Given the description of an element on the screen output the (x, y) to click on. 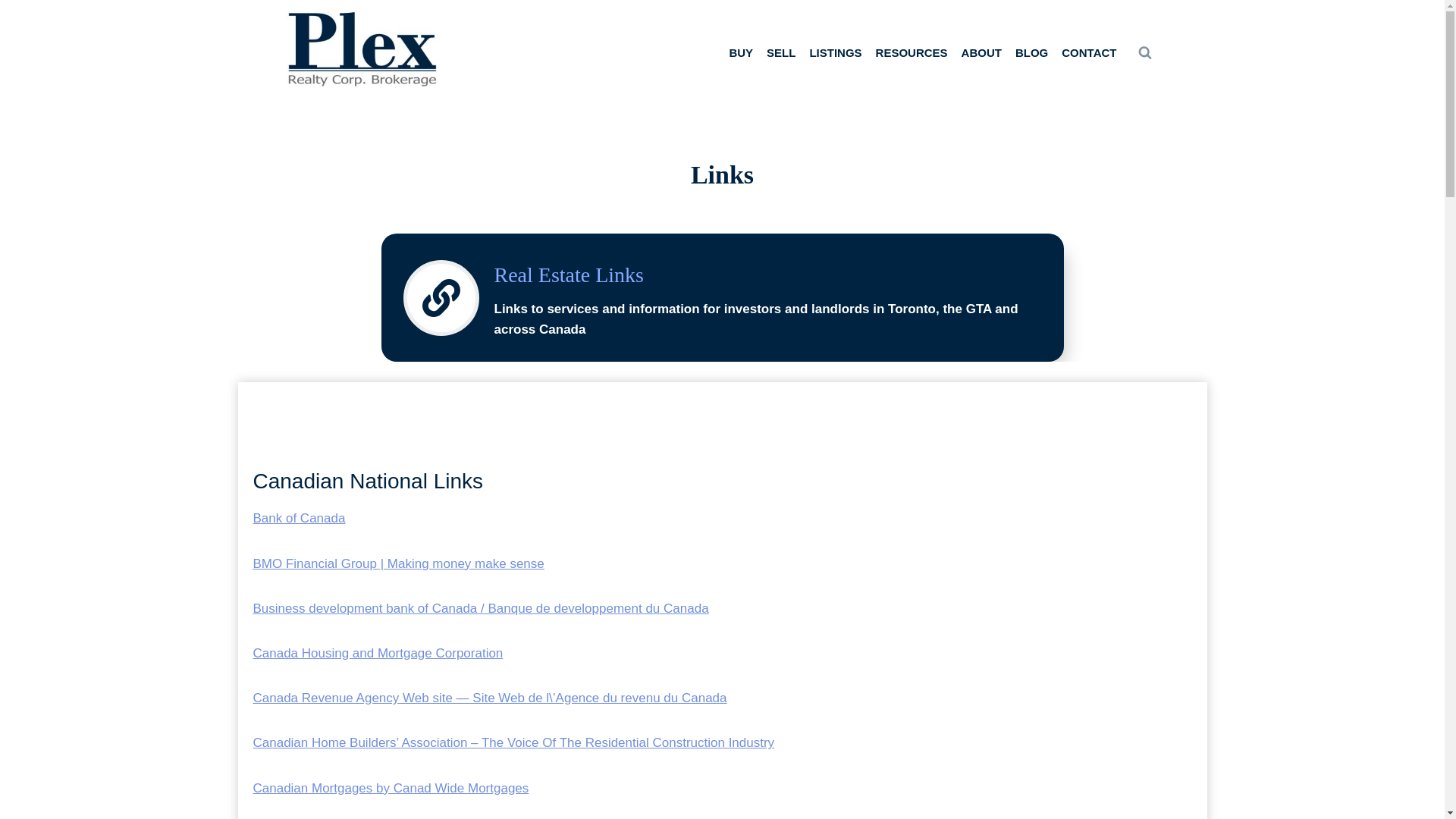
ABOUT (982, 52)
RESOURCES (912, 52)
Canadian Mortgages by Canad Wide Mortgages (391, 788)
SELL (781, 52)
CONTACT (1088, 52)
BUY (741, 52)
LISTINGS (834, 52)
Bank of Canada (299, 518)
BLOG (1031, 52)
Canada Housing and Mortgage Corporation (378, 653)
